Given the description of an element on the screen output the (x, y) to click on. 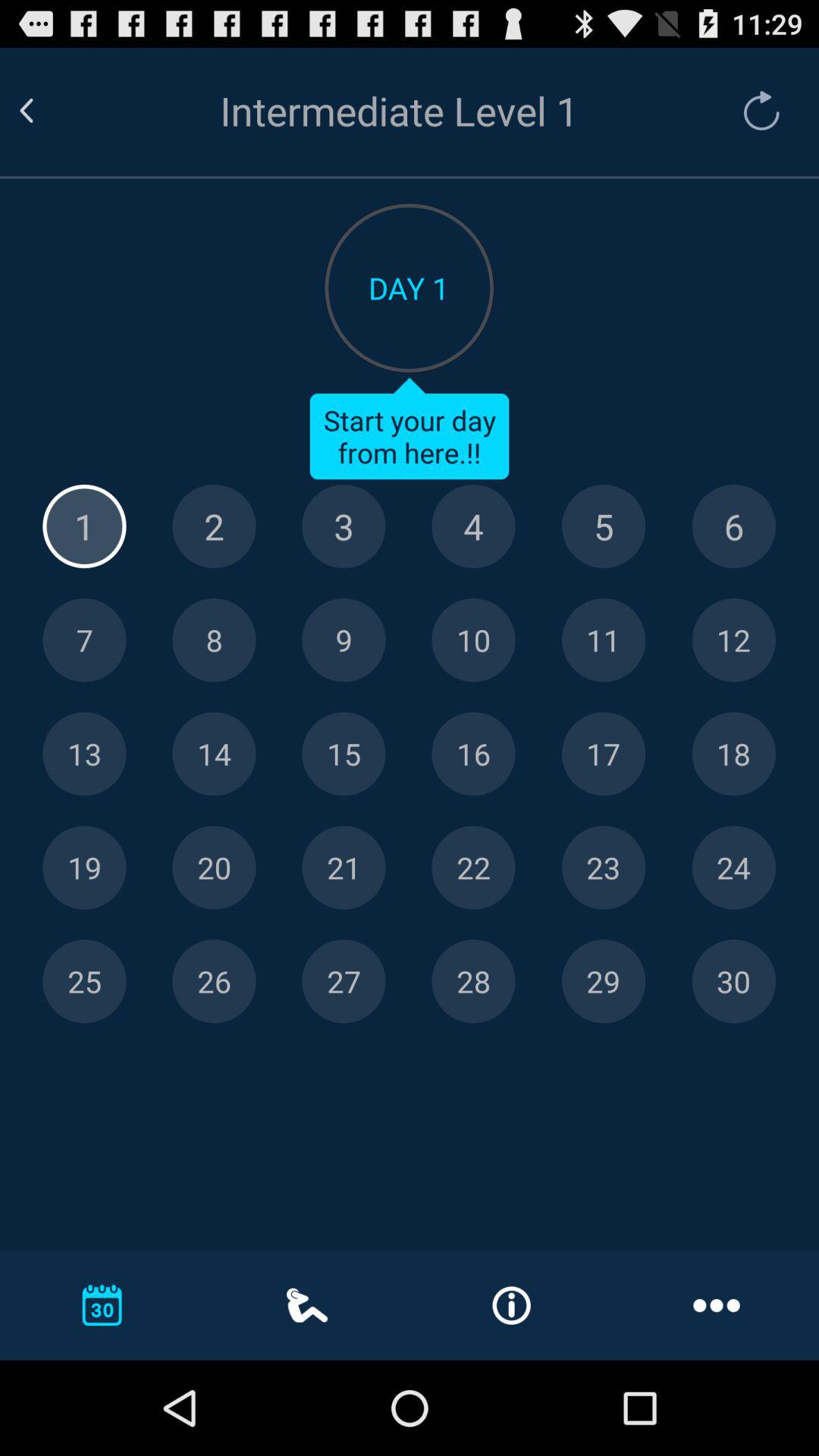
go to day 26 (213, 981)
